Given the description of an element on the screen output the (x, y) to click on. 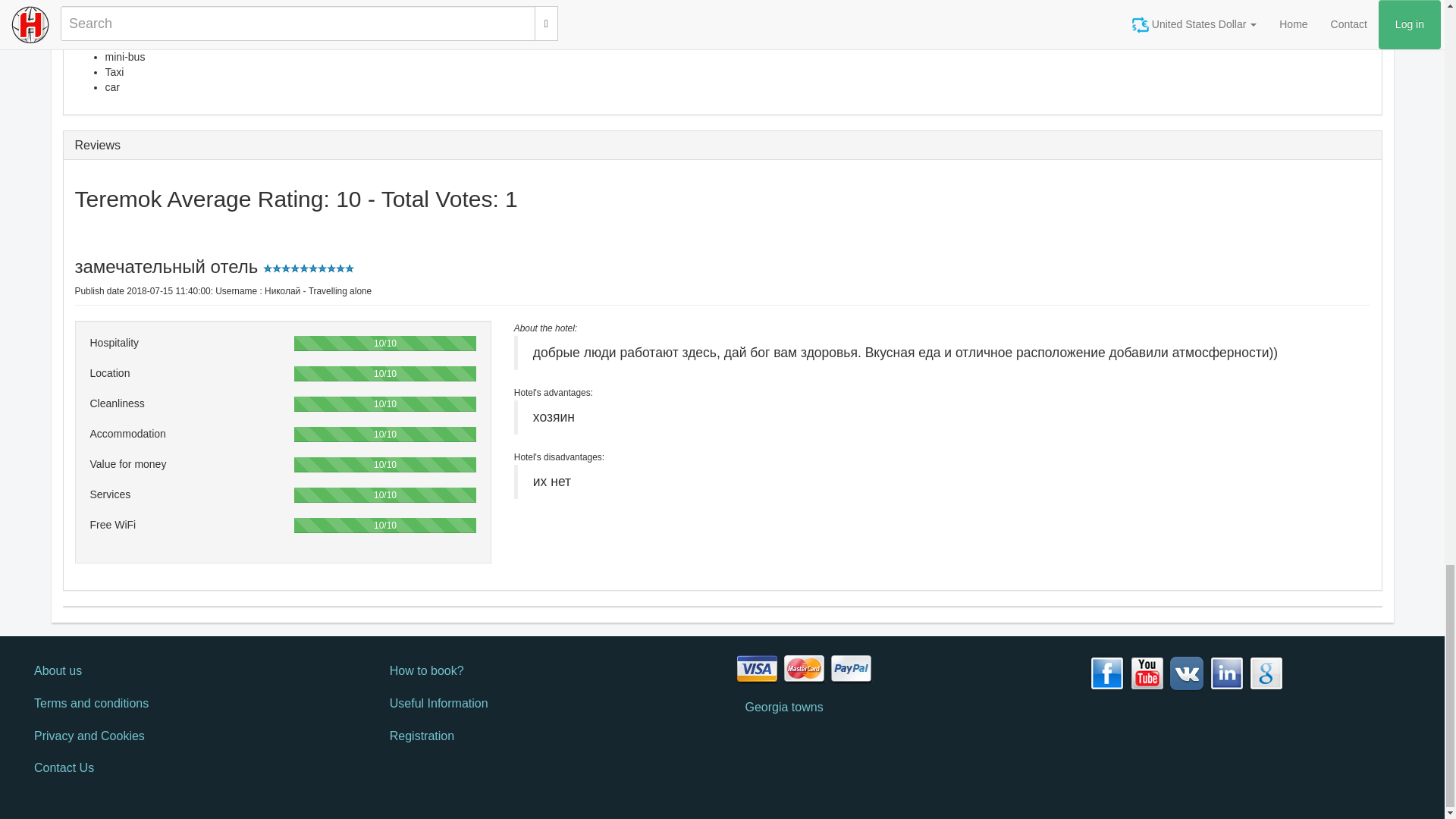
Registration (544, 736)
Useful Information (544, 703)
Privacy and Cookies (189, 736)
How to book? (544, 671)
Contact Us (189, 768)
Georgia towns (900, 707)
About us (189, 671)
Terms and conditions (189, 703)
arminka (544, 327)
